Given the description of an element on the screen output the (x, y) to click on. 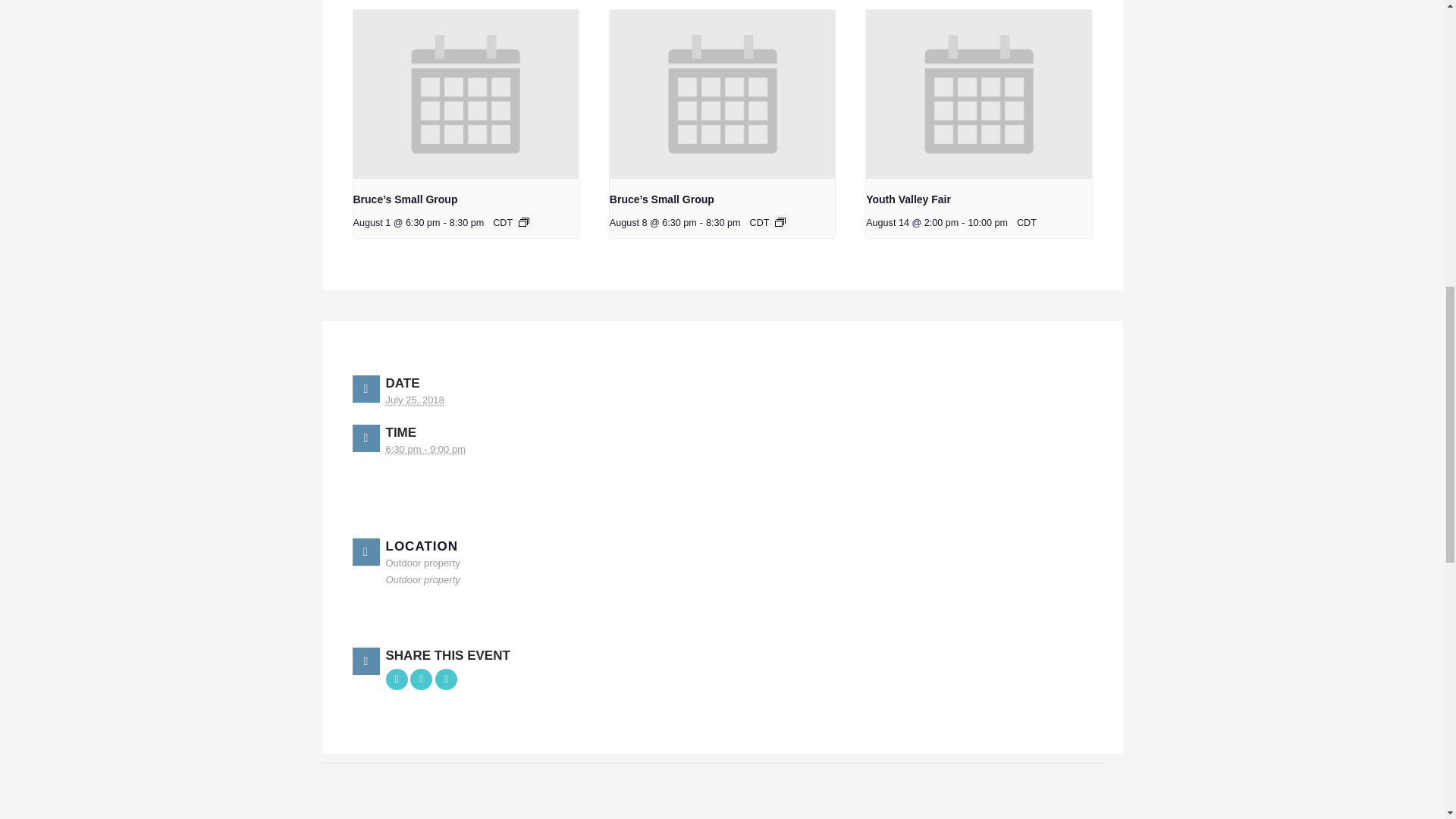
Event Series (780, 221)
2018-07-25 (414, 399)
Event Series (523, 221)
2018-07-25 (425, 449)
